Given the description of an element on the screen output the (x, y) to click on. 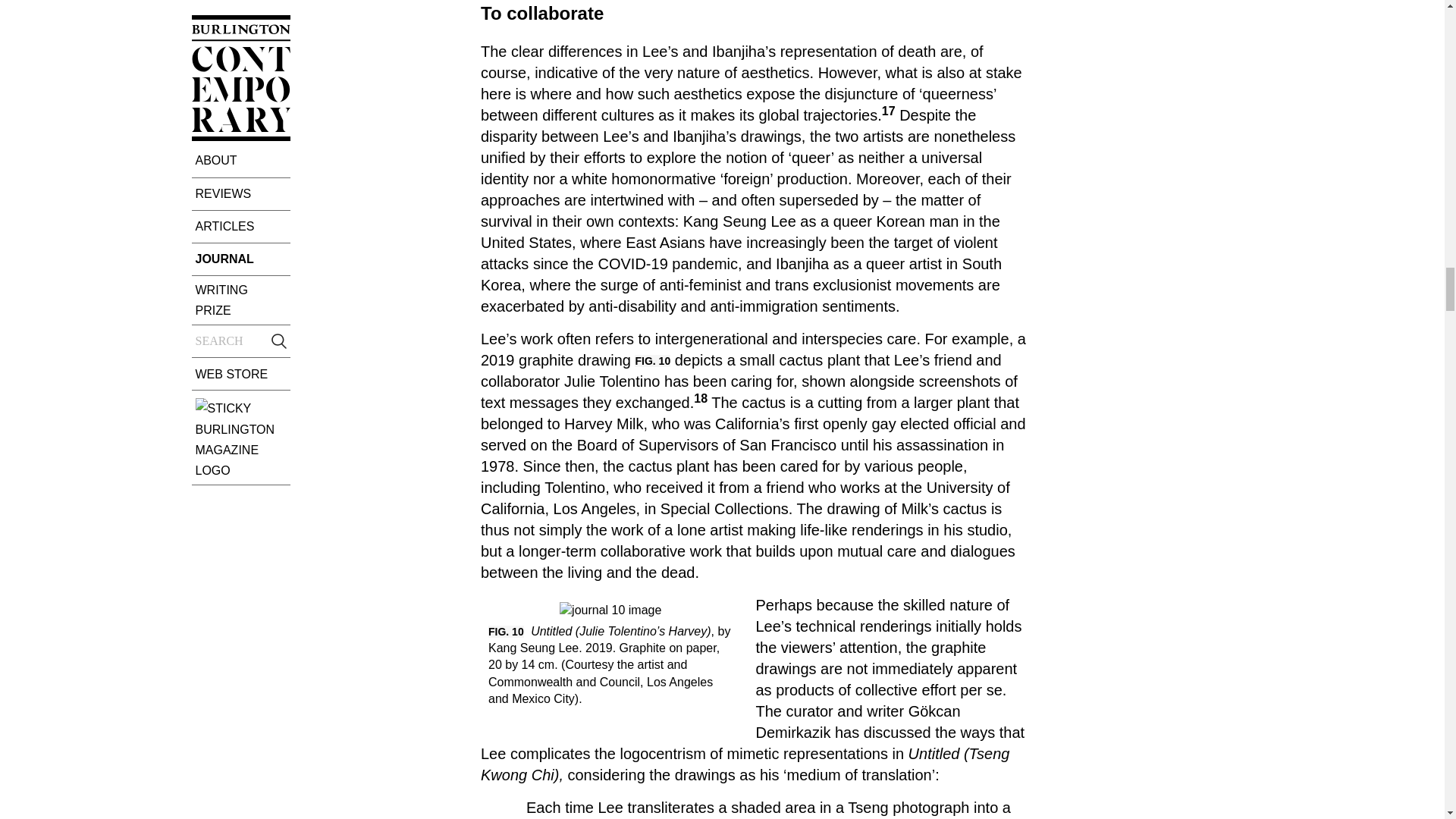
17 (888, 110)
18 (700, 398)
